Given the description of an element on the screen output the (x, y) to click on. 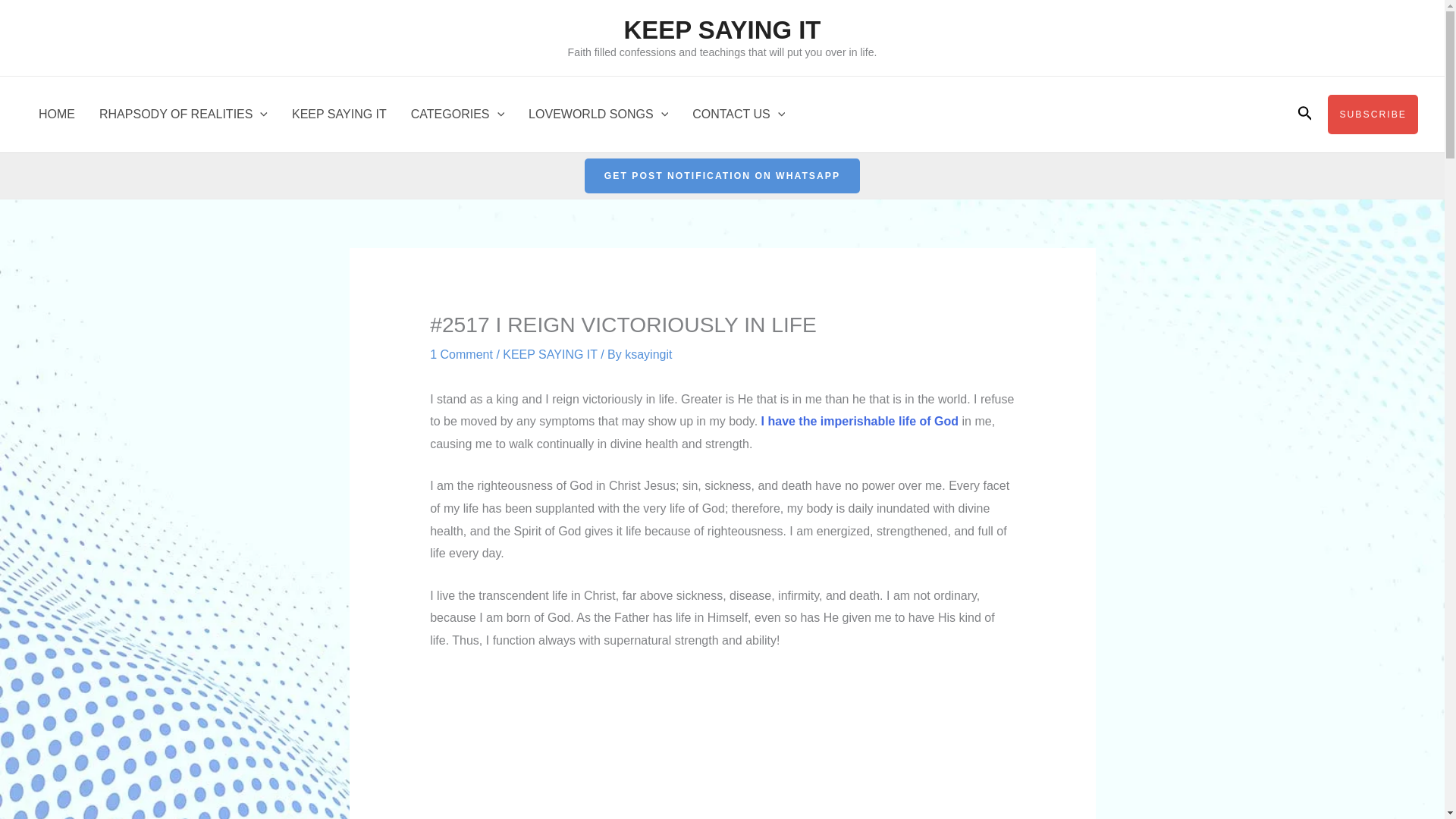
SUBSCRIBE (1372, 115)
CATEGORIES (457, 114)
ksayingit (647, 354)
Advertisement (722, 742)
I have the imperishable life of God (861, 420)
CONTACT US (737, 114)
1 Comment (461, 354)
KEEP SAYING IT (549, 354)
LOVEWORLD SONGS (597, 114)
KEEP SAYING IT (722, 29)
GET POST NOTIFICATION ON WHATSAPP (722, 175)
View all posts by ksayingit (647, 354)
KEEP SAYING IT (338, 114)
RHAPSODY OF REALITIES (183, 114)
